Given the description of an element on the screen output the (x, y) to click on. 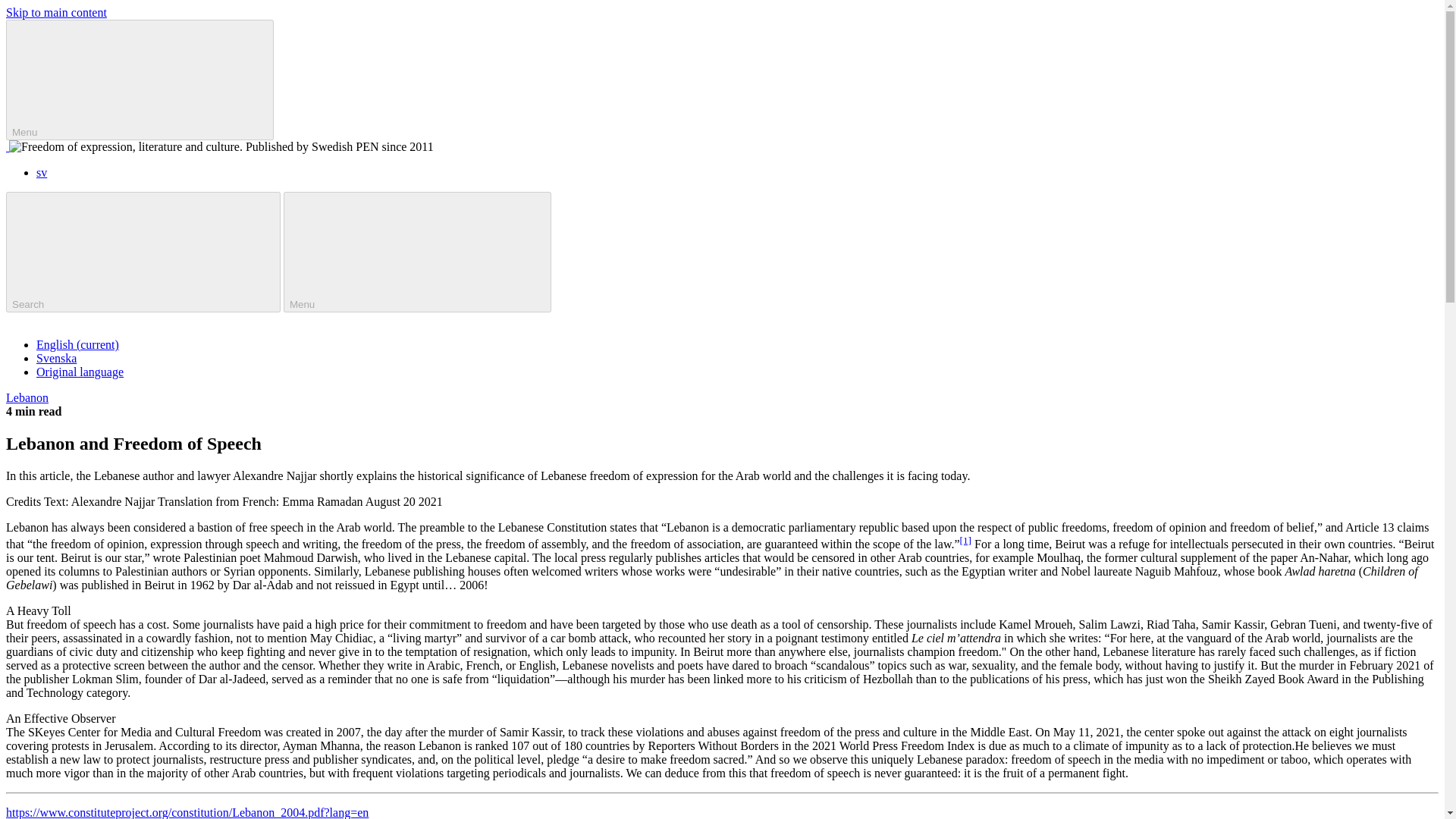
Search (143, 251)
Menu (139, 79)
Svenska (56, 358)
Menu (417, 251)
Original language (79, 371)
Lebanon (26, 397)
Skip to main content (55, 11)
